Given the description of an element on the screen output the (x, y) to click on. 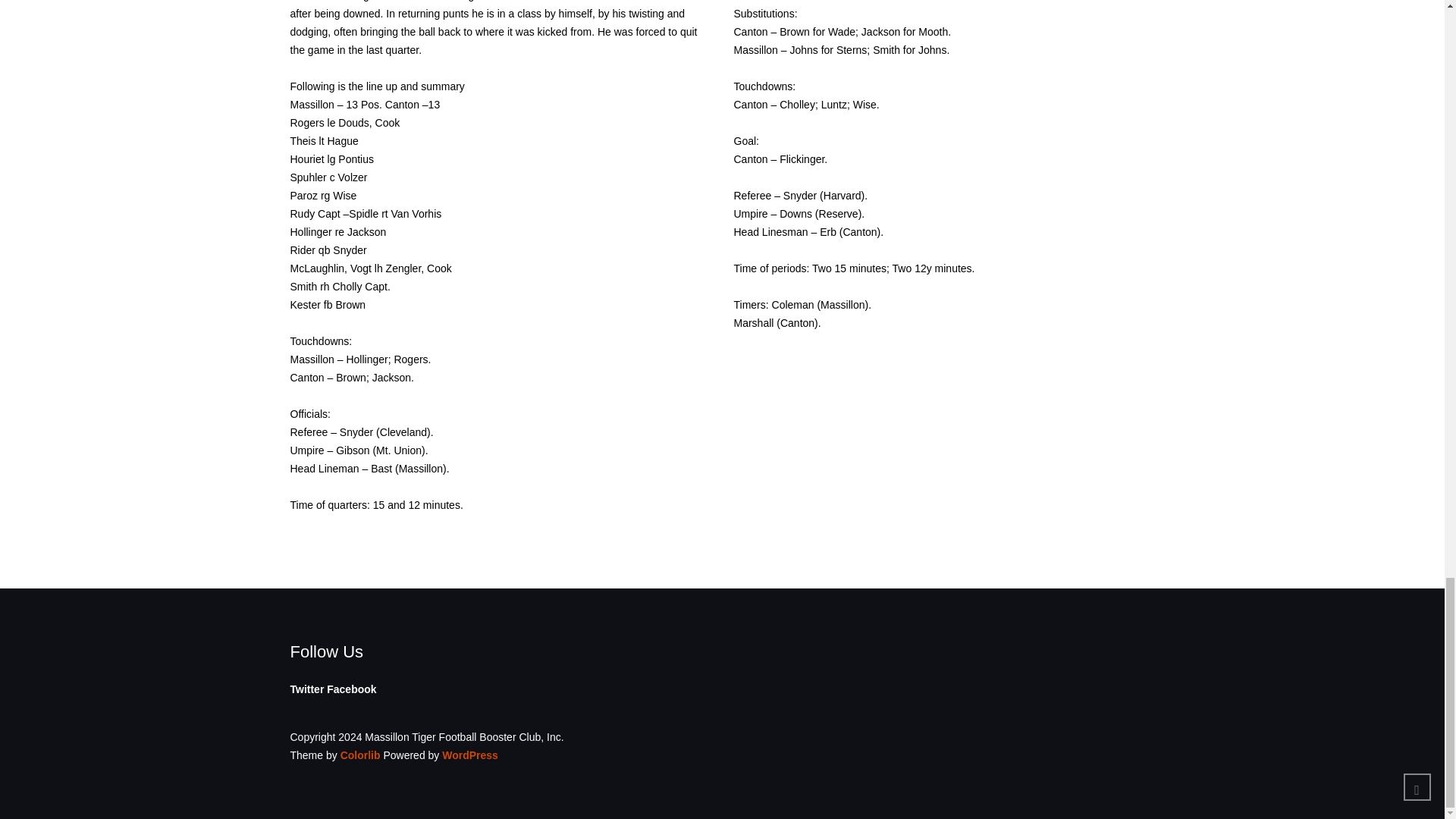
WordPress (469, 755)
WordPress.org (469, 755)
Colorlib (360, 755)
Twitter (306, 689)
Colorlib (360, 755)
Facebook (350, 689)
